Given the description of an element on the screen output the (x, y) to click on. 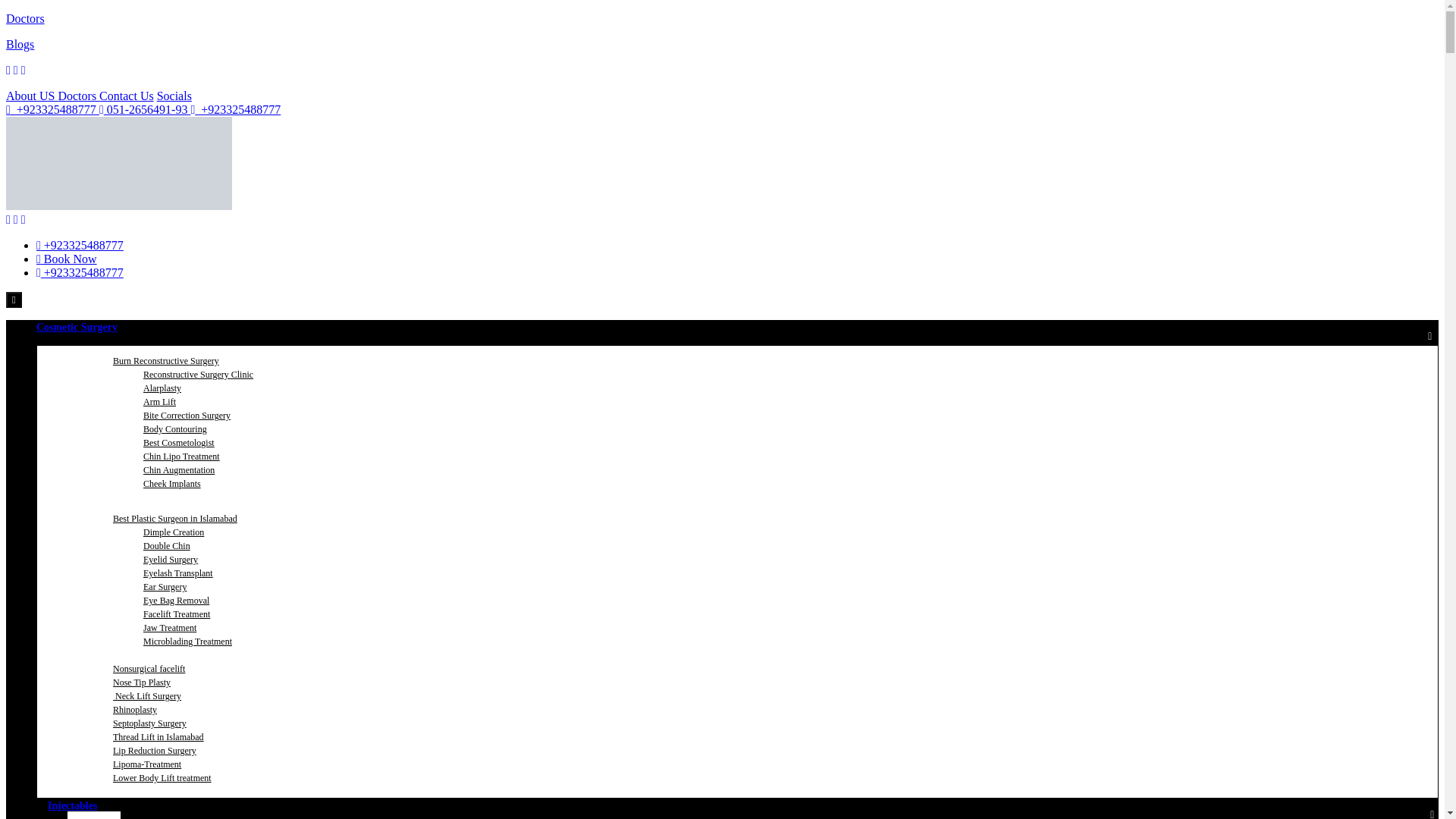
Cheek Implants (171, 483)
Eyelid Surgery (170, 558)
Doctors (25, 18)
Reconstructive Surgery Clinic (197, 373)
About US (31, 95)
Cosmetic Surgery (82, 326)
Blogs (19, 43)
 051-2656491-93 (144, 109)
Facelift Treatment (176, 613)
Ear Surgery (165, 586)
